Given the description of an element on the screen output the (x, y) to click on. 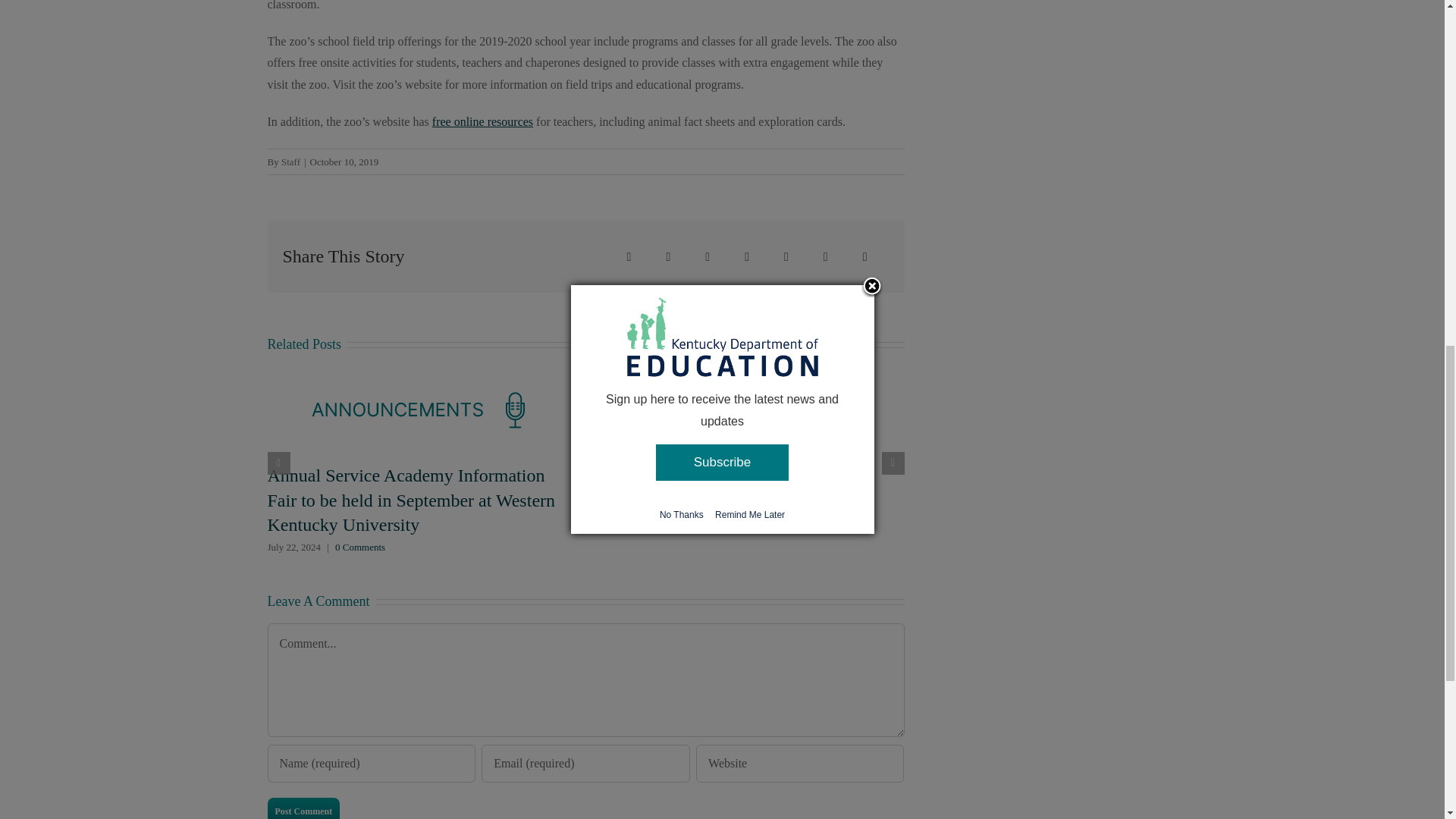
Posts by Staff (290, 161)
Post Comment (302, 808)
